Given the description of an element on the screen output the (x, y) to click on. 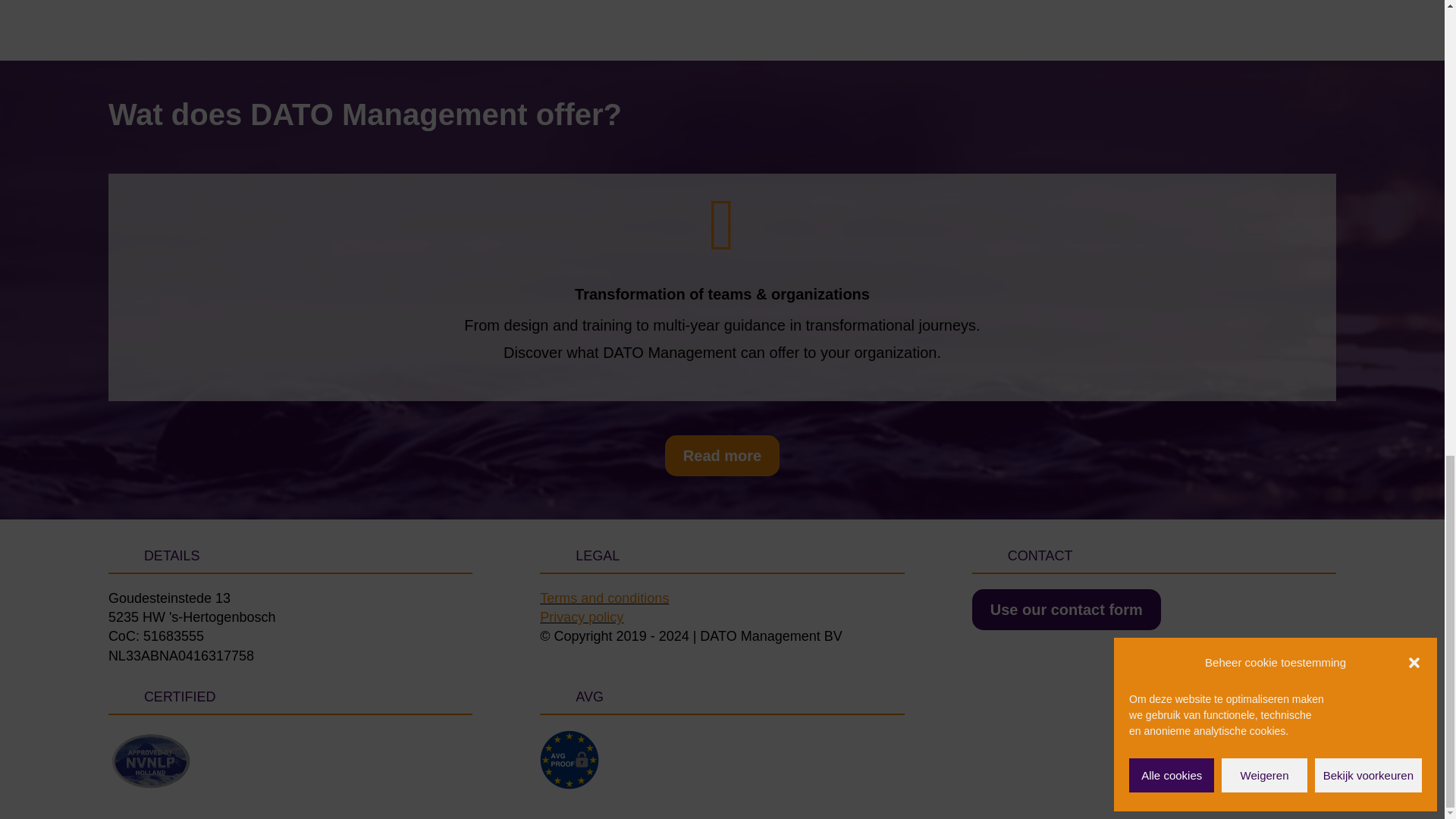
Use our contact form (1066, 608)
NVNLP Holland (149, 760)
Terms and conditions (604, 598)
Read more (721, 454)
Privacy policy (581, 616)
